Given the description of an element on the screen output the (x, y) to click on. 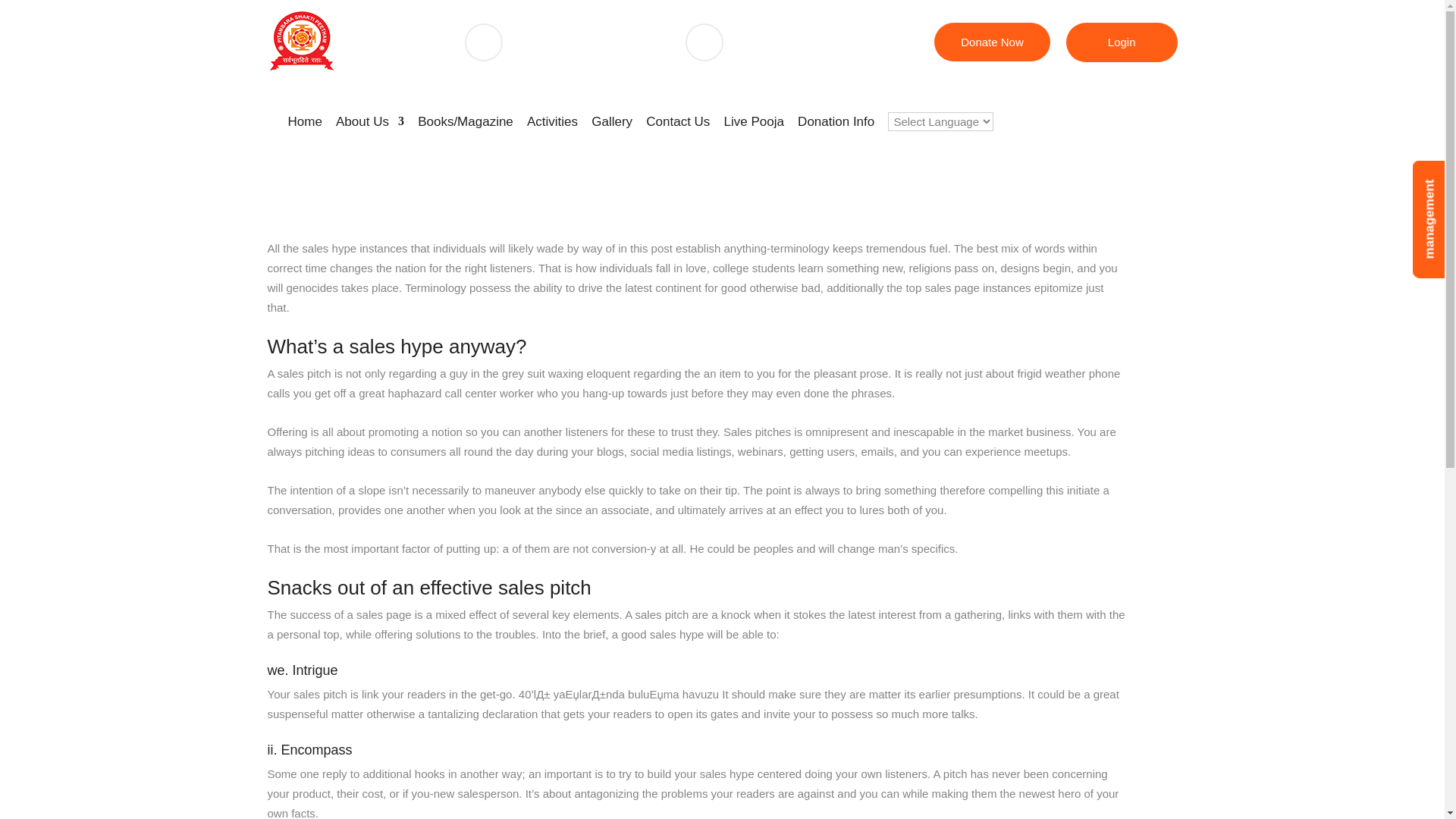
Live Pooja (753, 122)
Login (1121, 42)
About Us (370, 122)
Donation Info (836, 122)
Contact Us (678, 122)
Donate Now (991, 41)
